Given the description of an element on the screen output the (x, y) to click on. 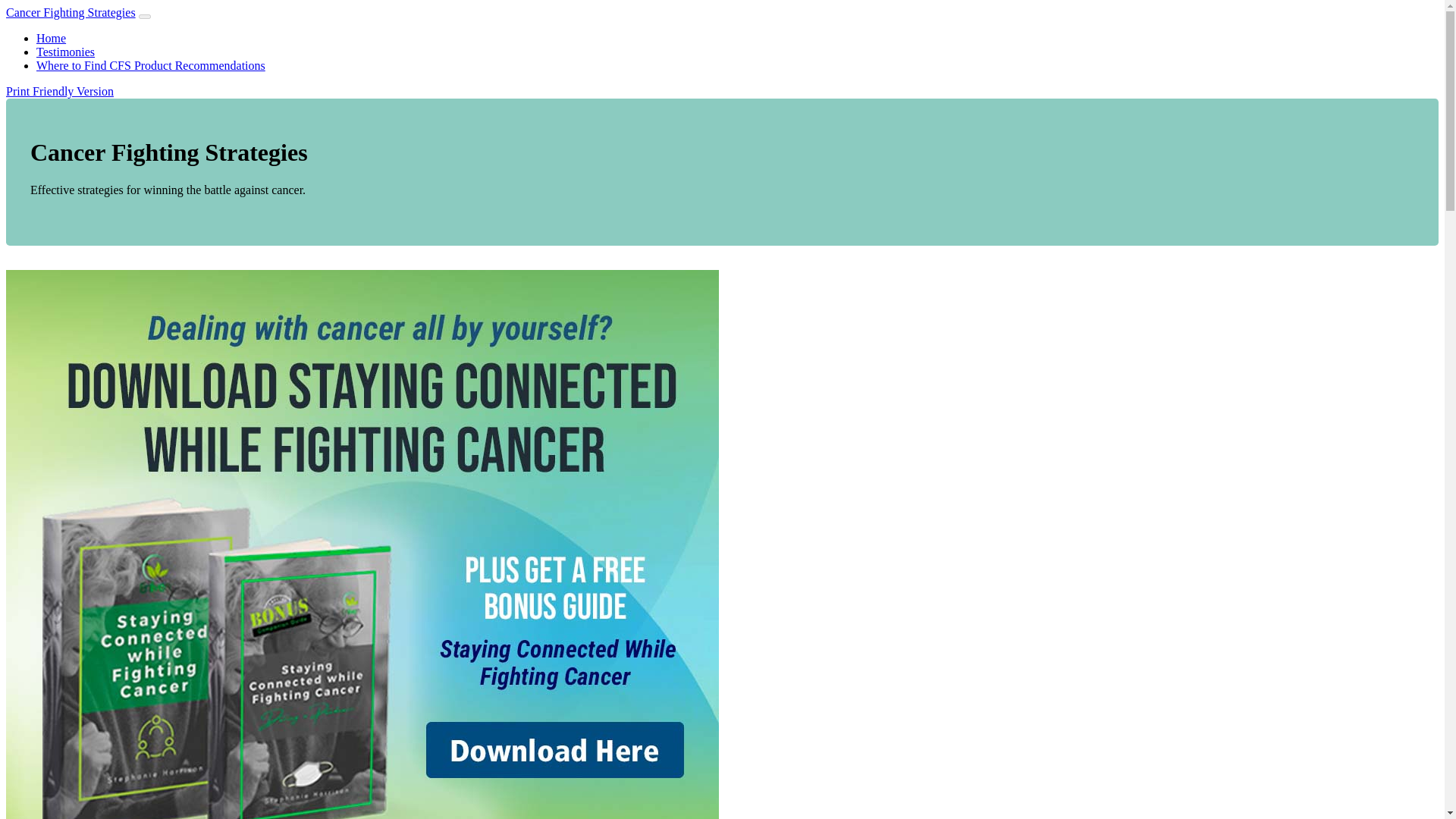
Cancer Fighting Strategies (70, 11)
Print Friendly Version (59, 91)
Testimonies (65, 51)
Where to Find CFS Product Recommendations (150, 65)
